Given the description of an element on the screen output the (x, y) to click on. 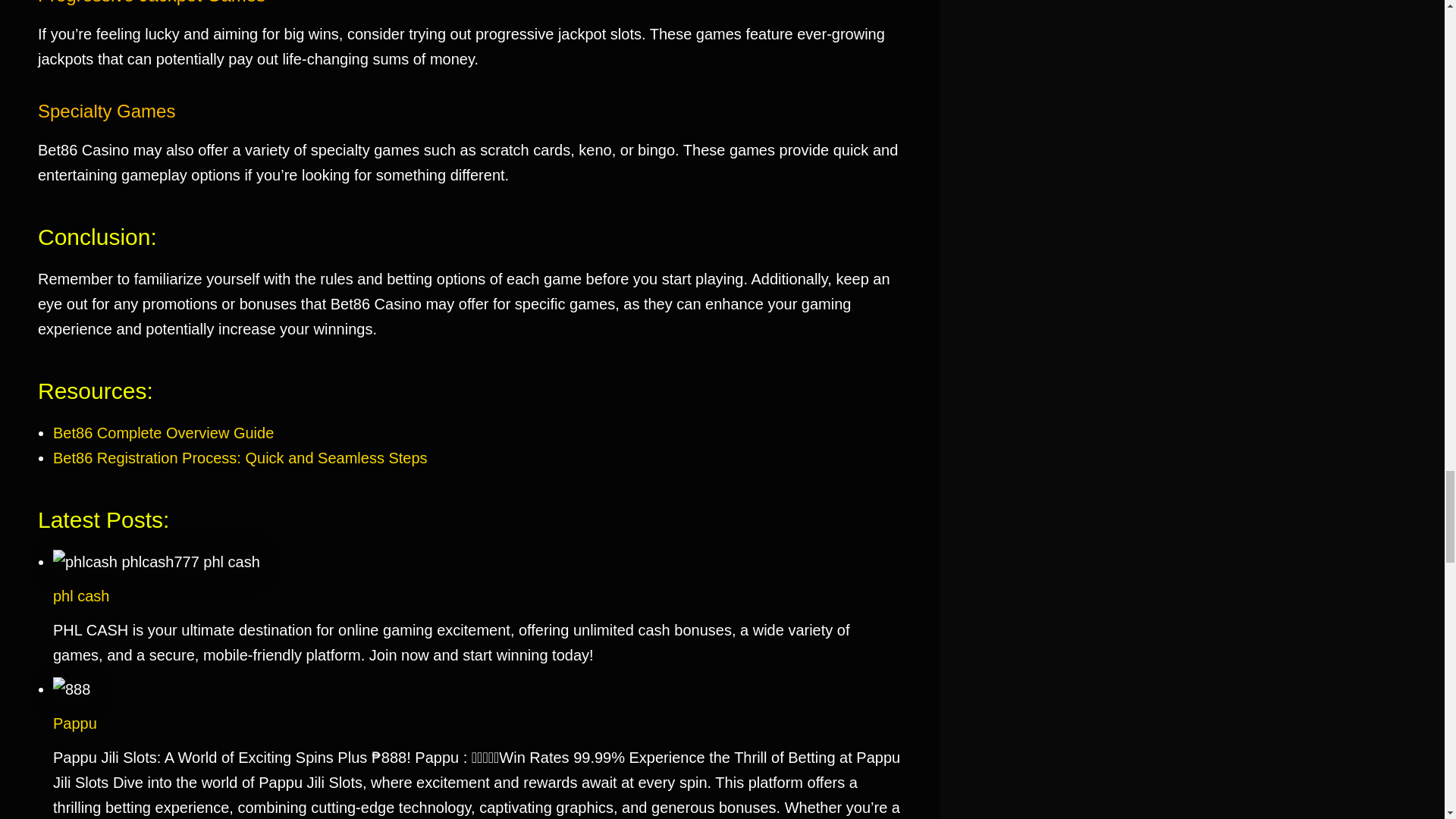
Pappu (74, 723)
phl cash (81, 596)
Bet86 Registration Process: Quick and Seamless Steps (240, 457)
Bet86 Complete Overview Guide (162, 433)
